Given the description of an element on the screen output the (x, y) to click on. 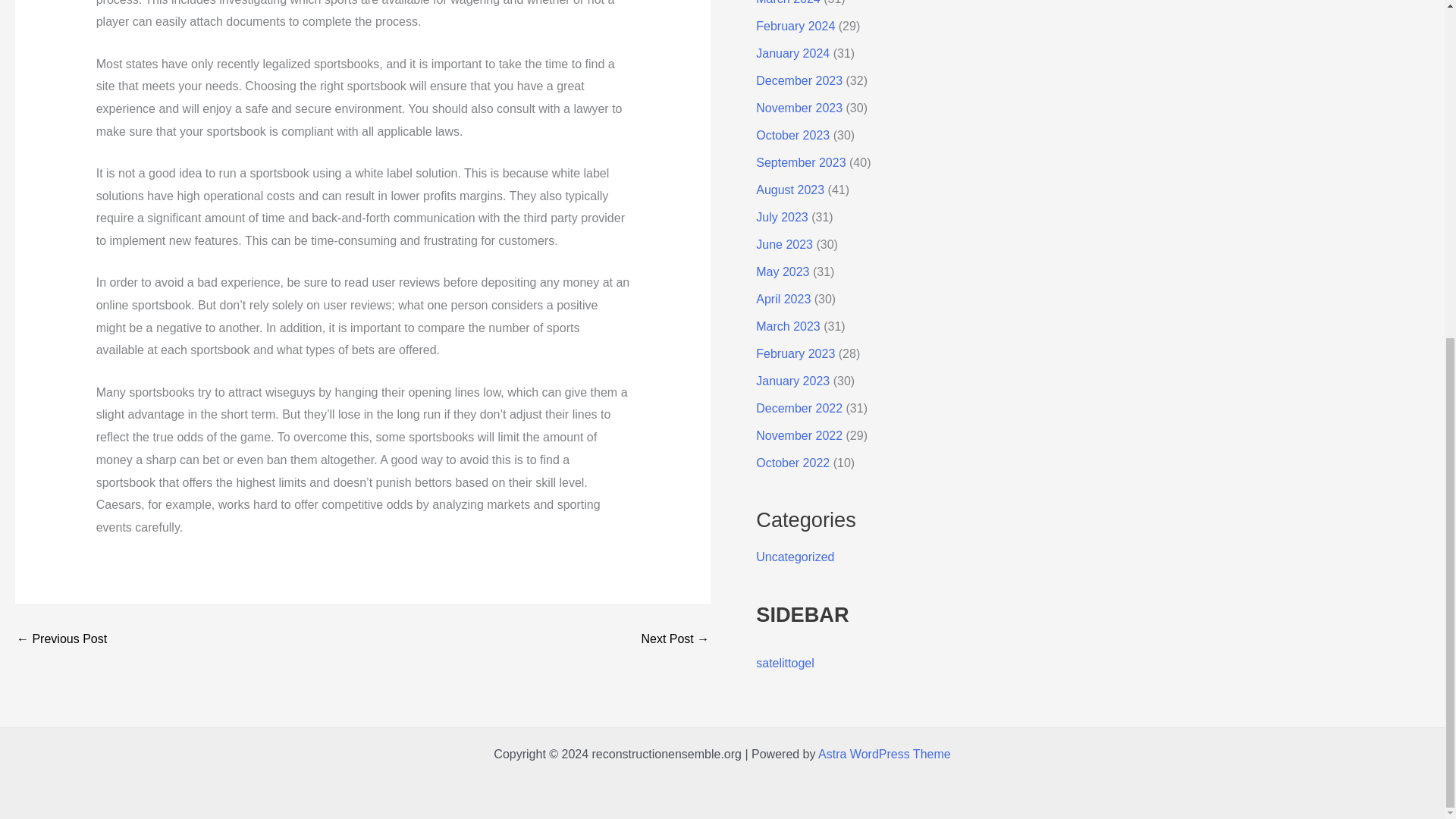
December 2023 (799, 80)
June 2023 (783, 244)
What Is a Slot? (61, 639)
February 2023 (794, 353)
What Is a Casino Online? (674, 639)
March 2024 (788, 2)
January 2023 (792, 380)
Uncategorized (794, 556)
satelittogel (784, 662)
October 2022 (792, 462)
March 2023 (788, 326)
October 2023 (792, 134)
November 2023 (799, 107)
September 2023 (800, 162)
April 2023 (782, 298)
